Given the description of an element on the screen output the (x, y) to click on. 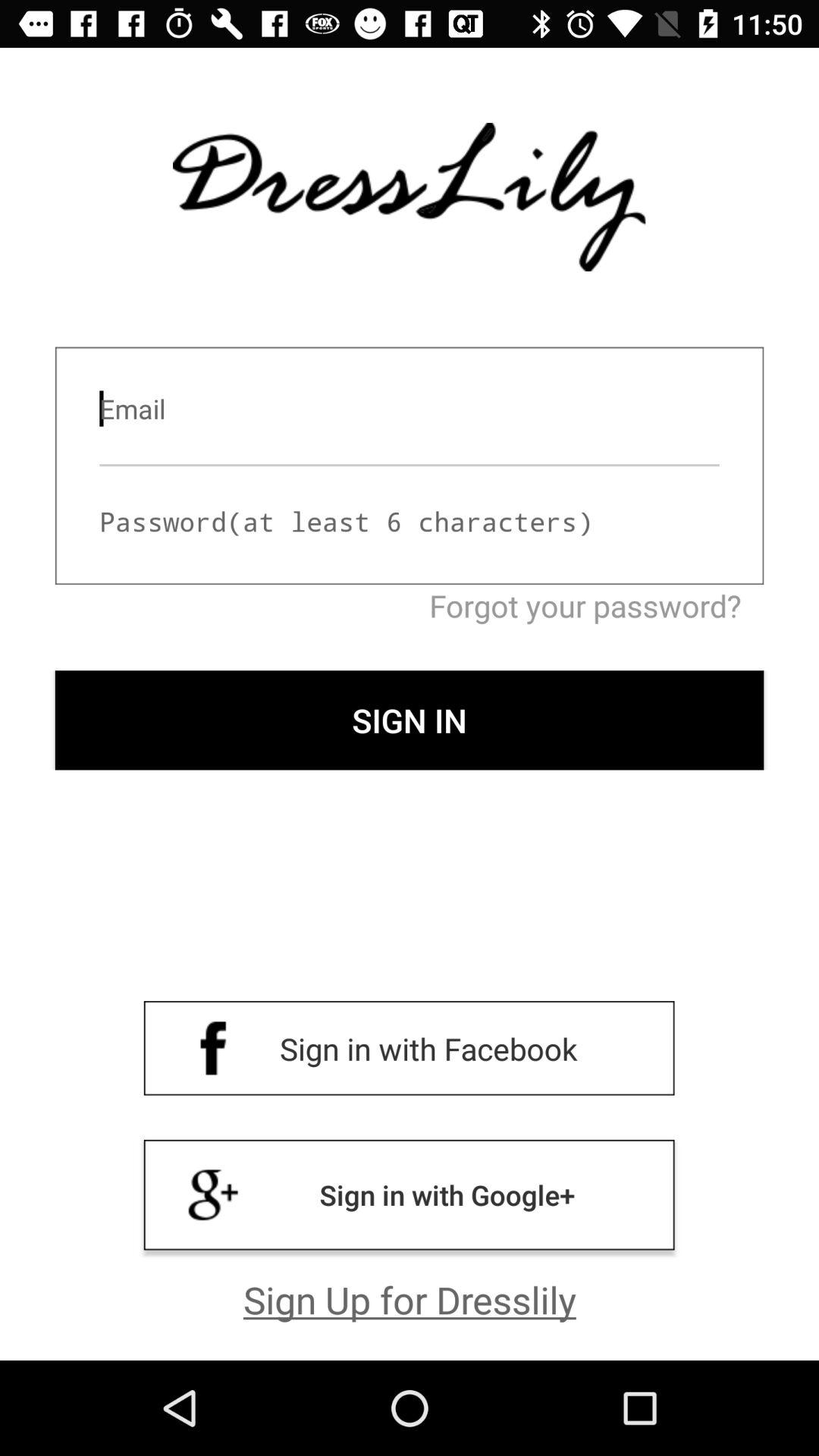
input password (409, 521)
